Given the description of an element on the screen output the (x, y) to click on. 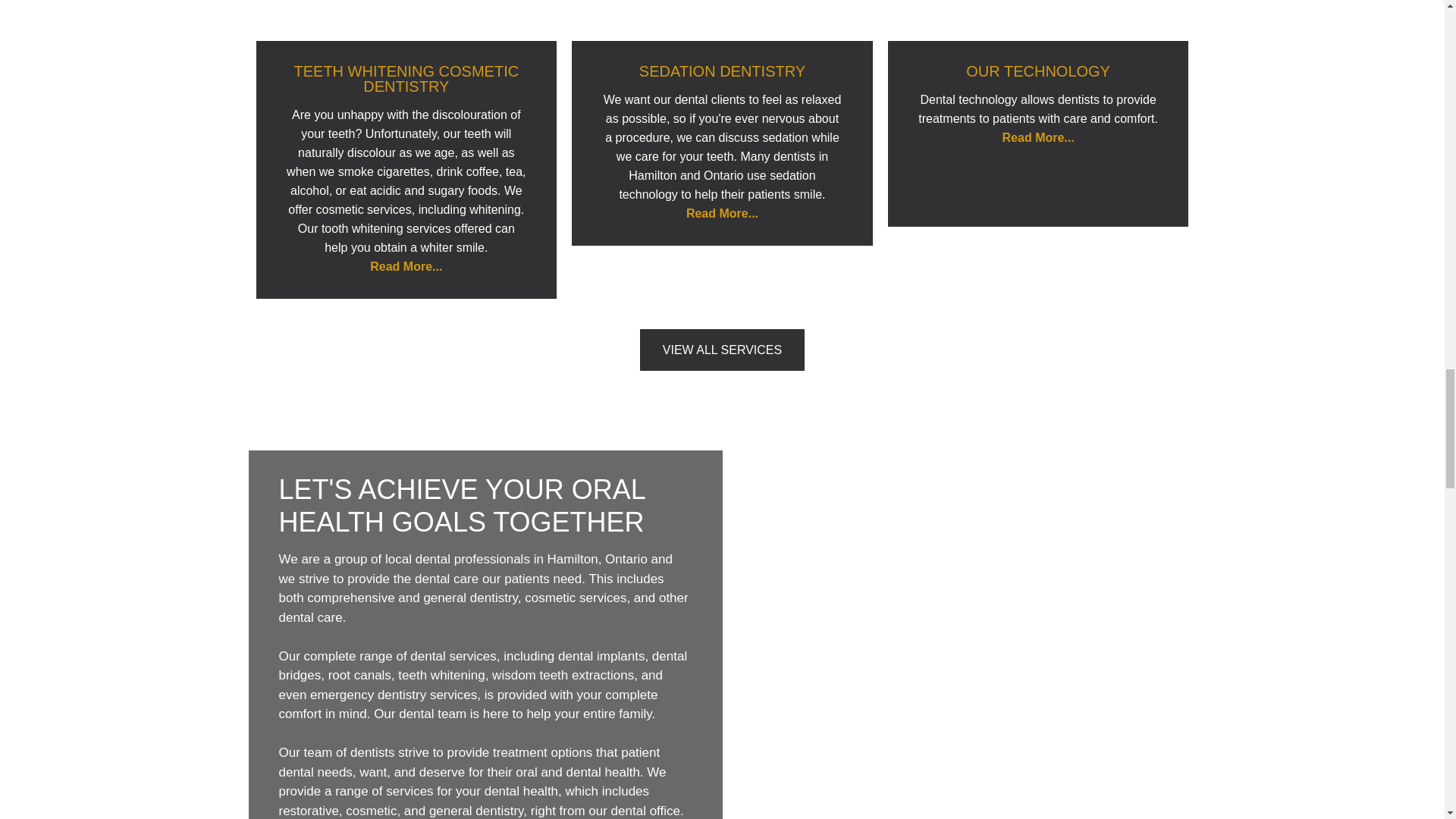
dental bridges (483, 666)
